Given the description of an element on the screen output the (x, y) to click on. 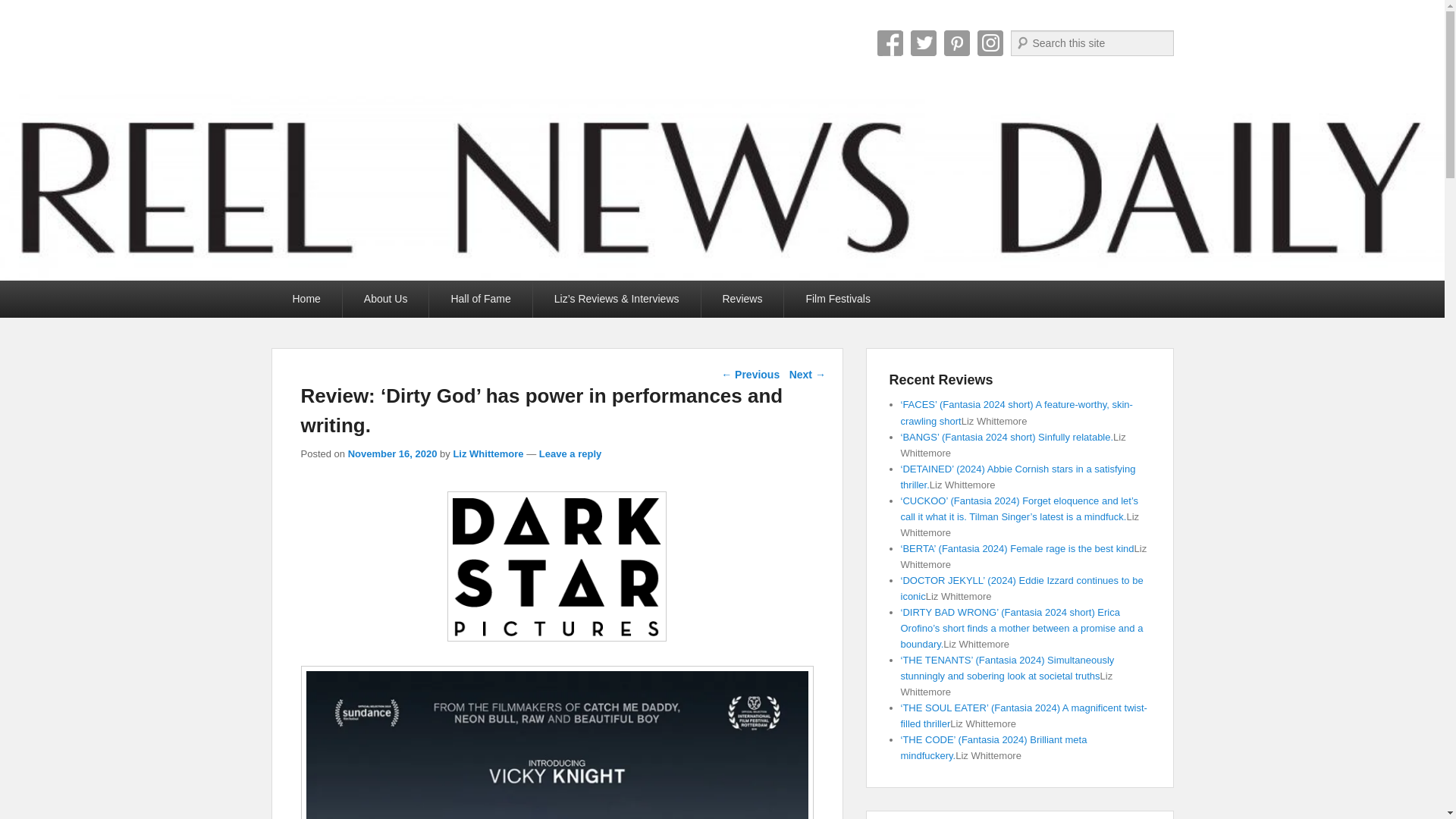
Pinterest (956, 43)
About Us (385, 298)
Hall of Fame (480, 298)
Twitter (923, 43)
Pinterest (956, 43)
Liz Whittemore (487, 453)
Reviews (741, 298)
Film Festivals (837, 298)
Reel News Daily (404, 48)
Instagram (989, 43)
View all posts by Liz Whittemore (487, 453)
Search (25, 9)
Facebook (889, 43)
Reel News Daily (404, 48)
Instagram (989, 43)
